Given the description of an element on the screen output the (x, y) to click on. 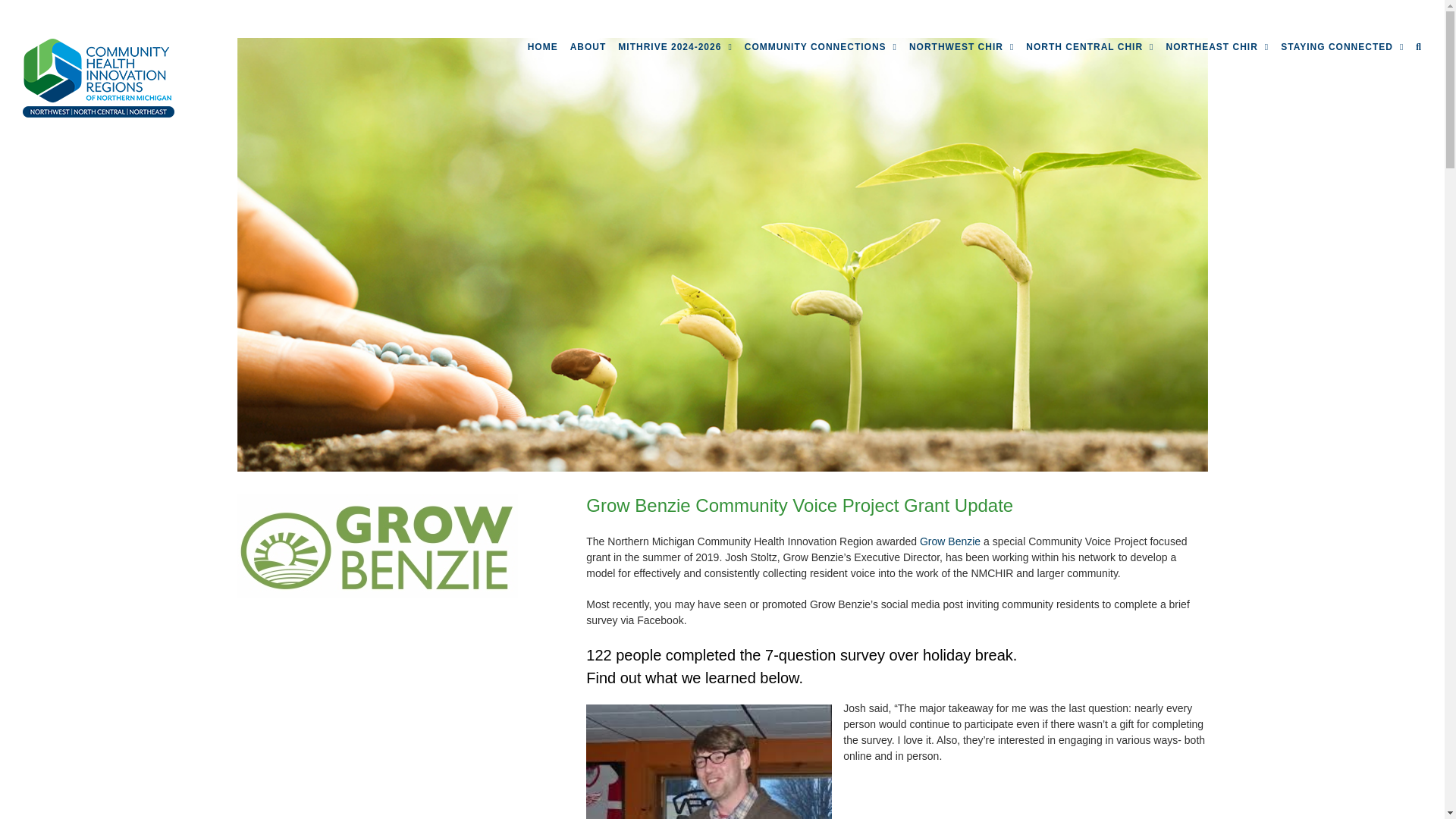
MITHRIVE 2024-2026 (674, 46)
COMMUNITY CONNECTIONS (820, 46)
NORTH CENTRAL CHIR (1089, 46)
AGrowBenzieLogo wText (375, 546)
NORTHWEST CHIR (960, 46)
